Given the description of an element on the screen output the (x, y) to click on. 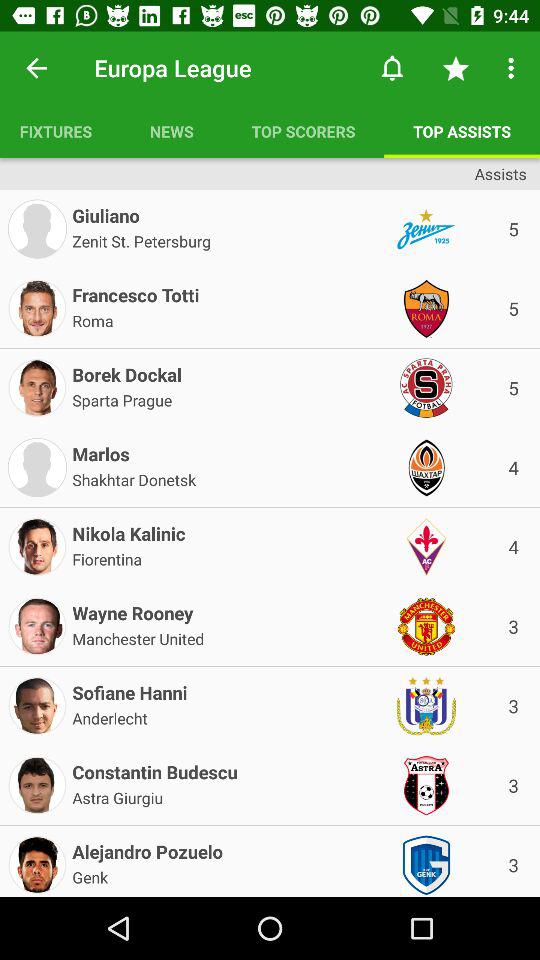
turn off item above the nikola kalinic icon (134, 478)
